Given the description of an element on the screen output the (x, y) to click on. 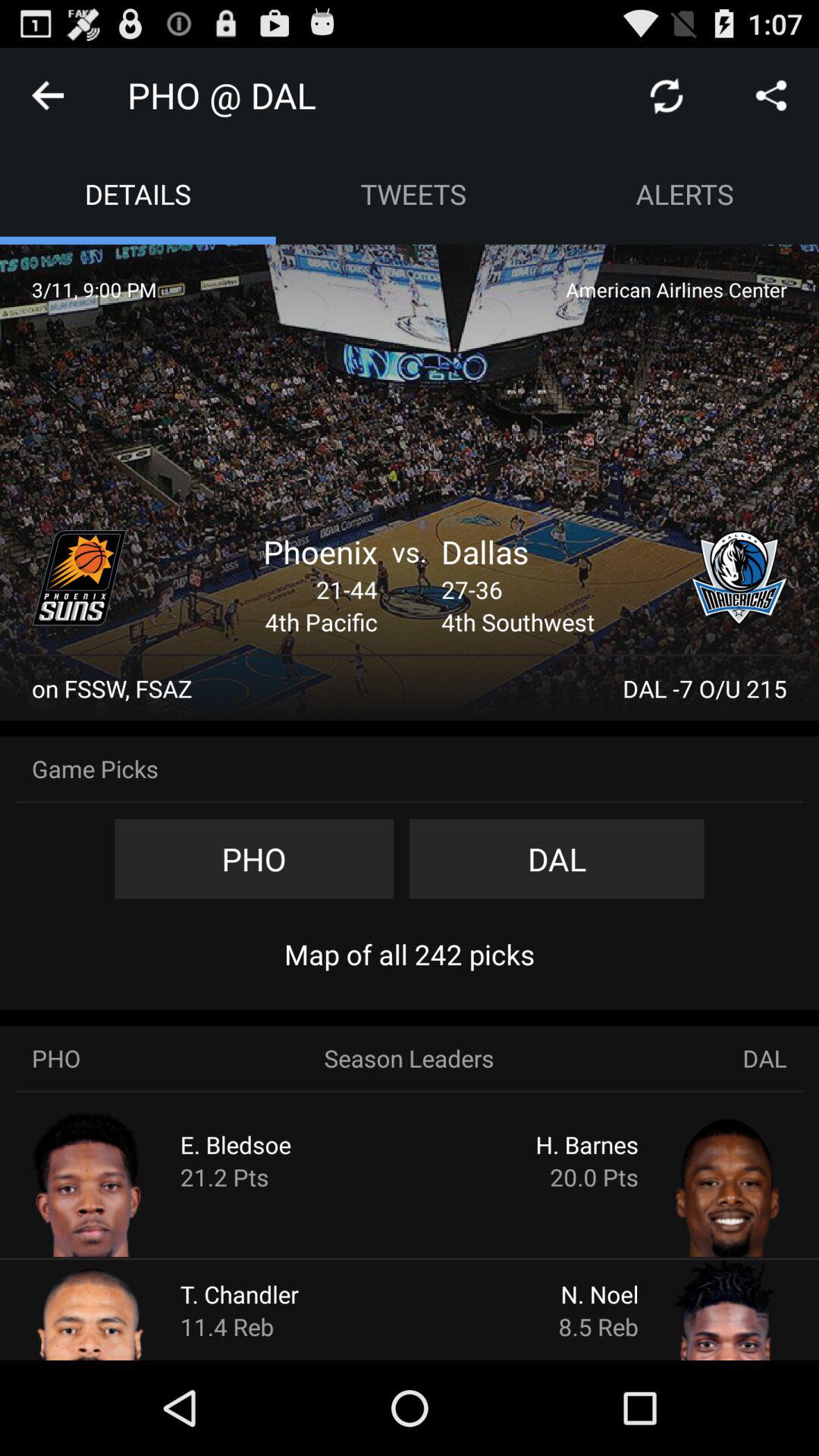
go back (47, 95)
